Given the description of an element on the screen output the (x, y) to click on. 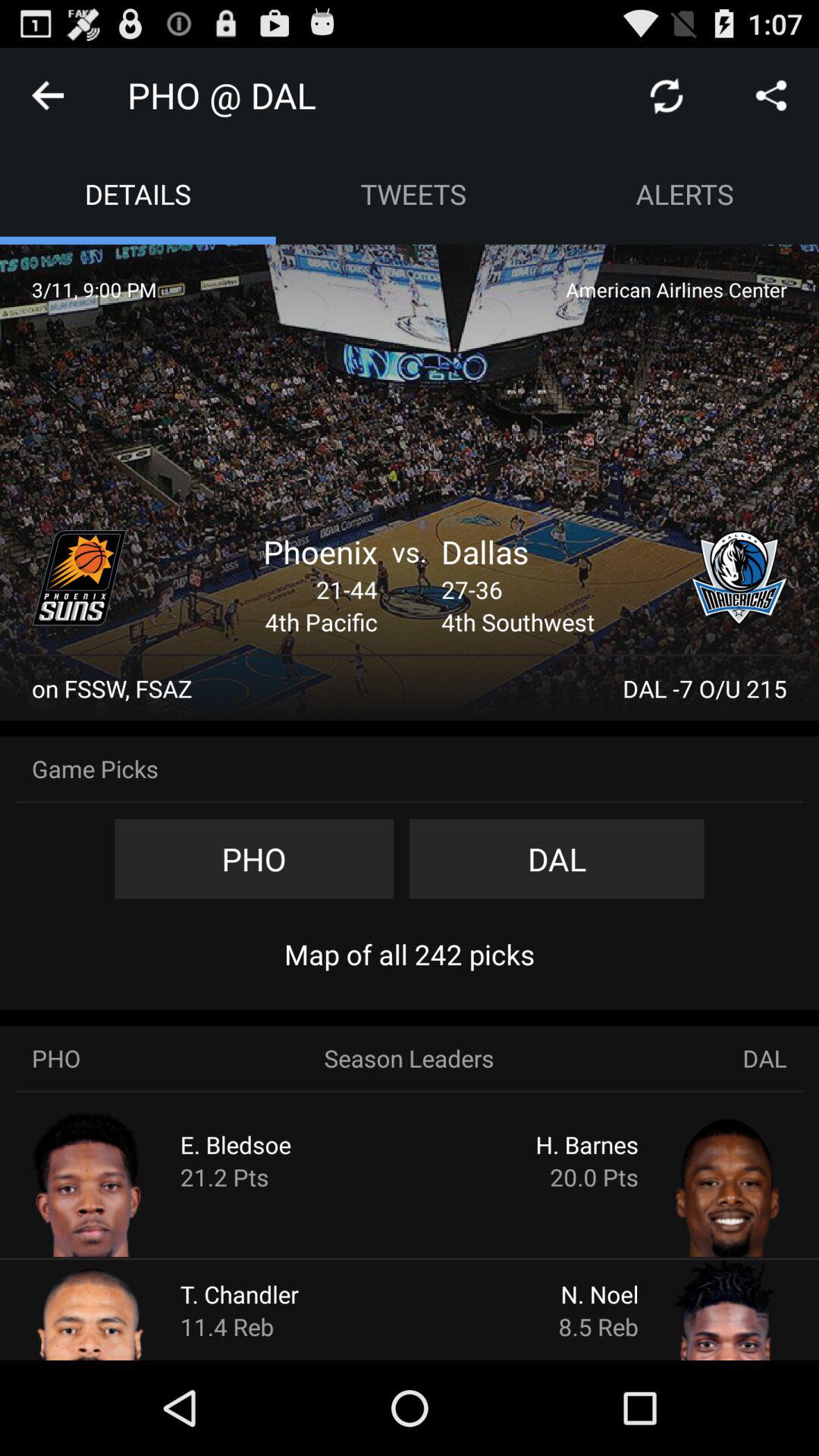
go back (47, 95)
